Given the description of an element on the screen output the (x, y) to click on. 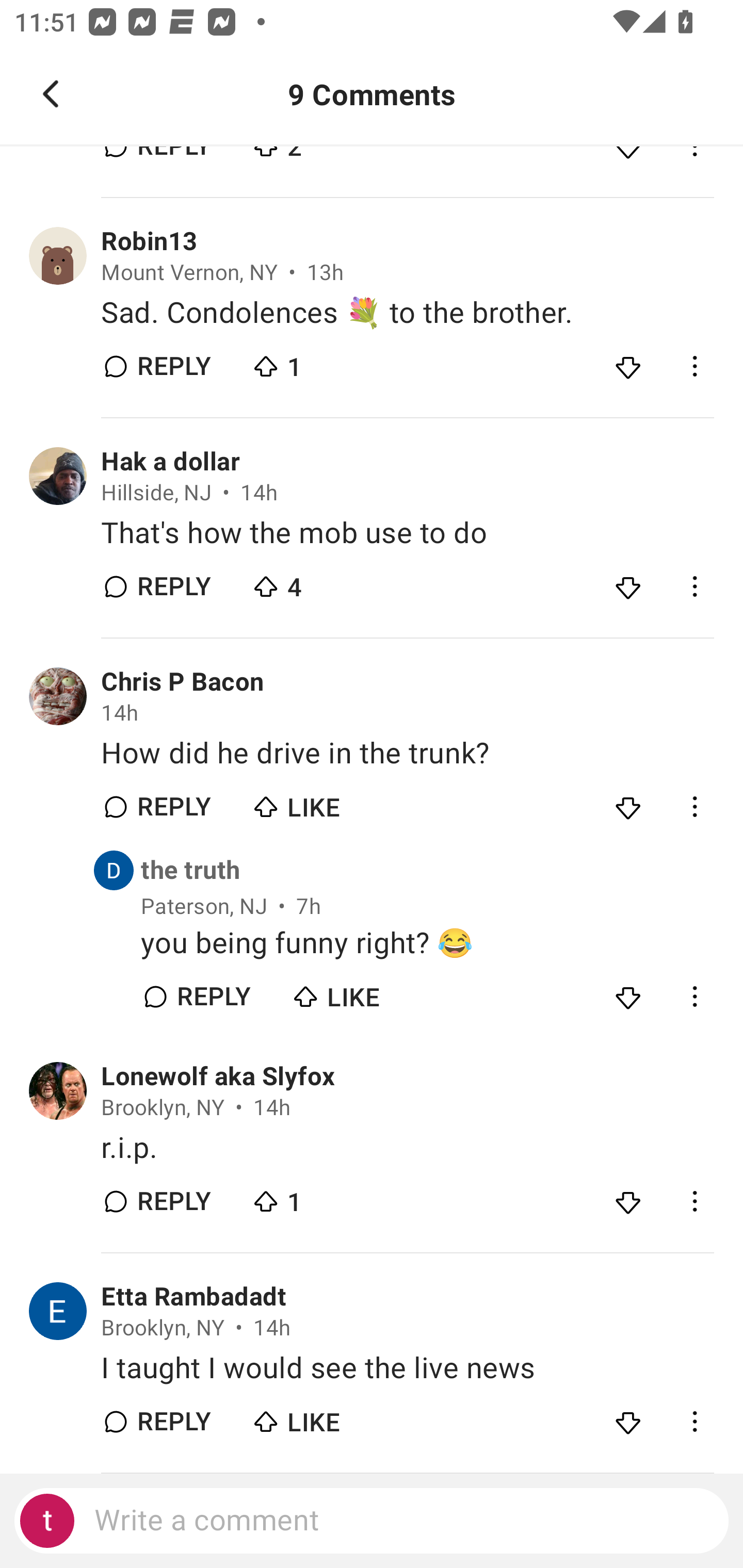
Navigate up (50, 93)
Robin13 (149, 241)
Sad. Condolences 💐 to the brother. (407, 313)
1 (320, 361)
REPLY (173, 366)
Hak a dollar (170, 461)
That's how the mob use to do  (407, 532)
4 (320, 582)
REPLY (173, 587)
Chris P Bacon (182, 681)
How did he drive in the trunk? (407, 752)
LIKE (320, 801)
REPLY (173, 806)
the truth (190, 870)
you being funny right? 😂 (427, 942)
LIKE (360, 991)
REPLY (213, 996)
Lonewolf aka Slyfox (218, 1076)
r.i.p. (407, 1147)
1 (320, 1197)
REPLY (173, 1201)
Etta Rambadadt (193, 1297)
I taught I would see the live news  (407, 1368)
LIKE (320, 1417)
REPLY (173, 1421)
Write a comment (371, 1520)
